Given the description of an element on the screen output the (x, y) to click on. 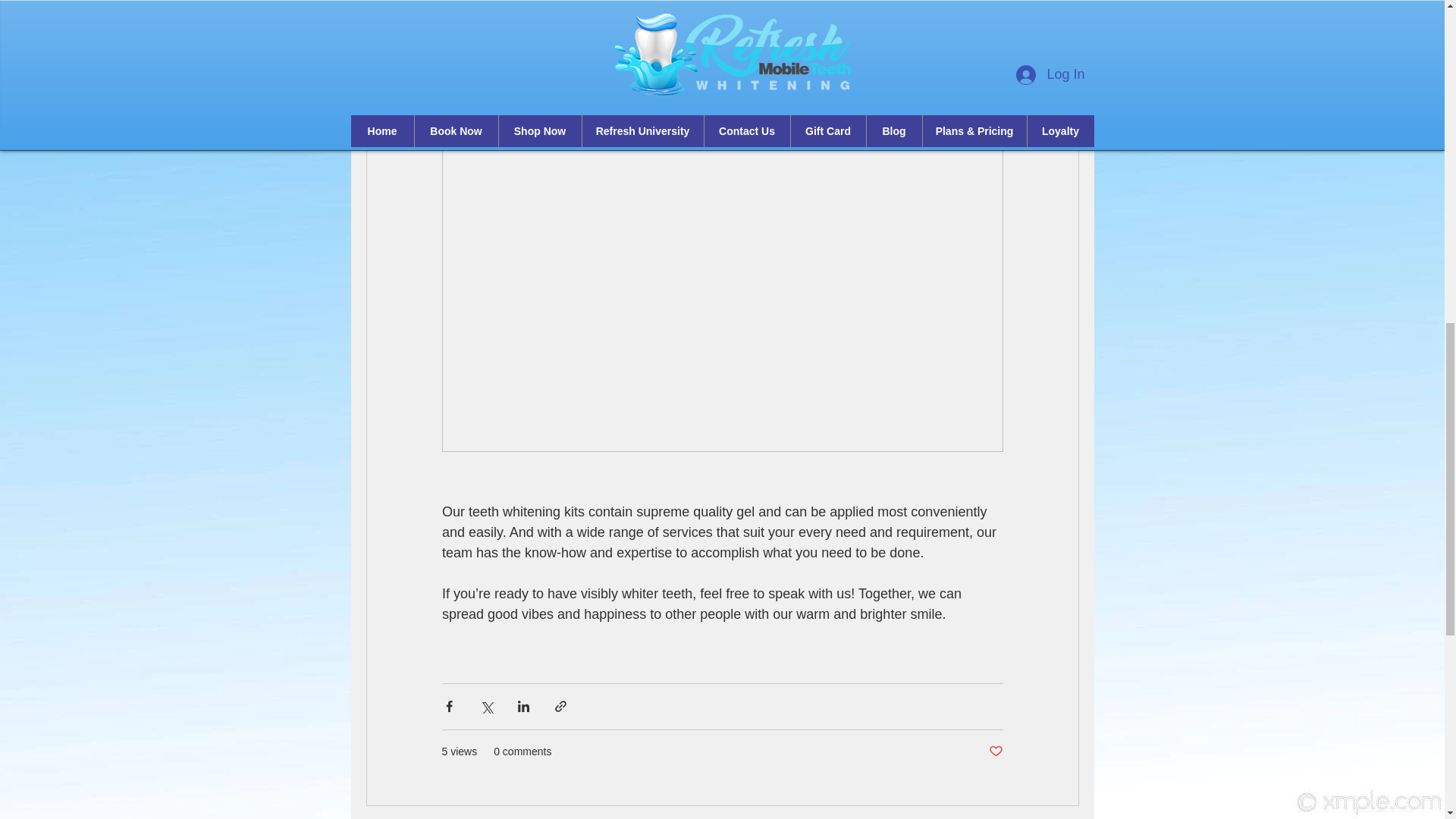
Post not marked as liked (995, 751)
